Given the description of an element on the screen output the (x, y) to click on. 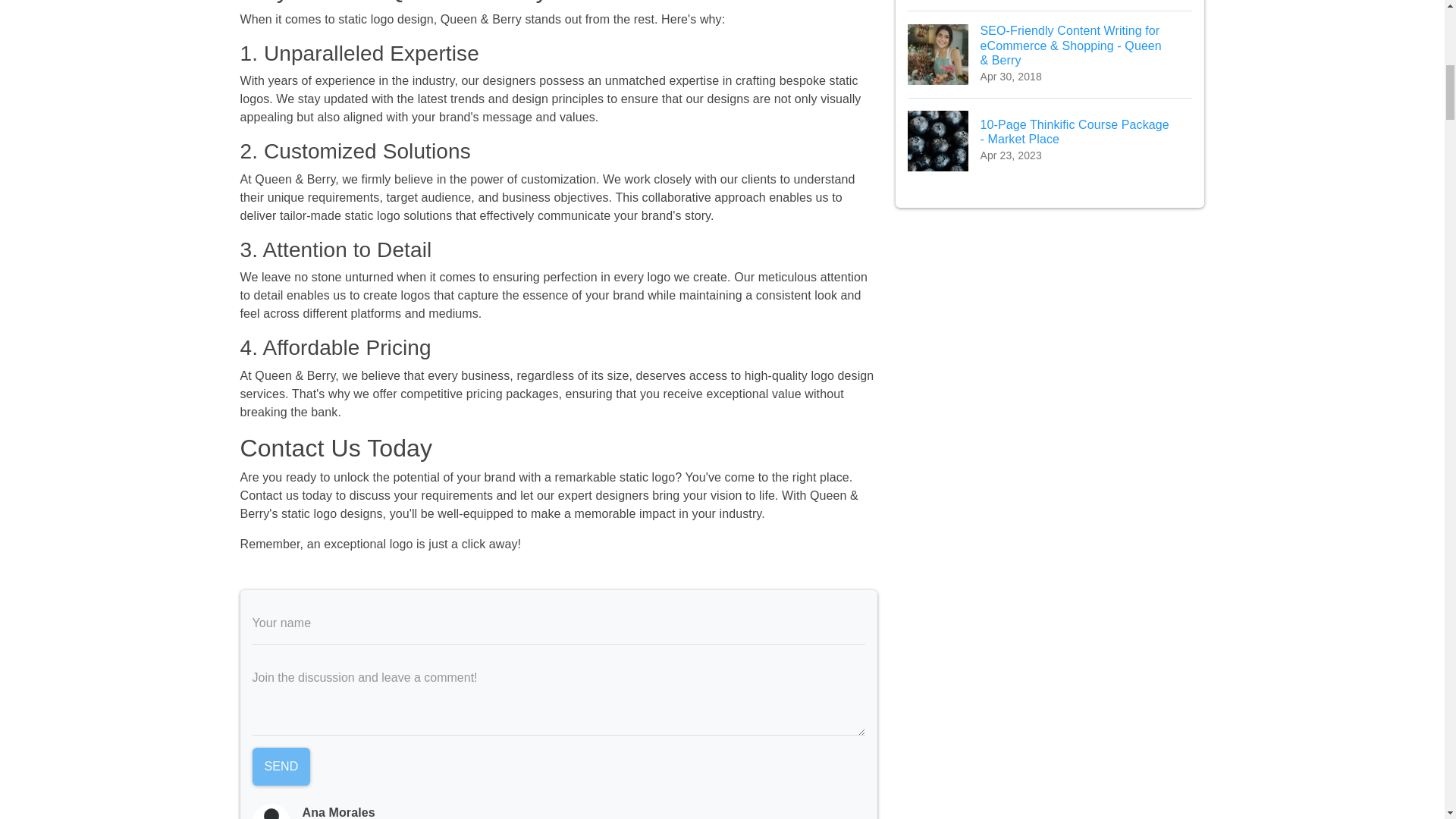
Send (1049, 5)
Send (280, 766)
